Given the description of an element on the screen output the (x, y) to click on. 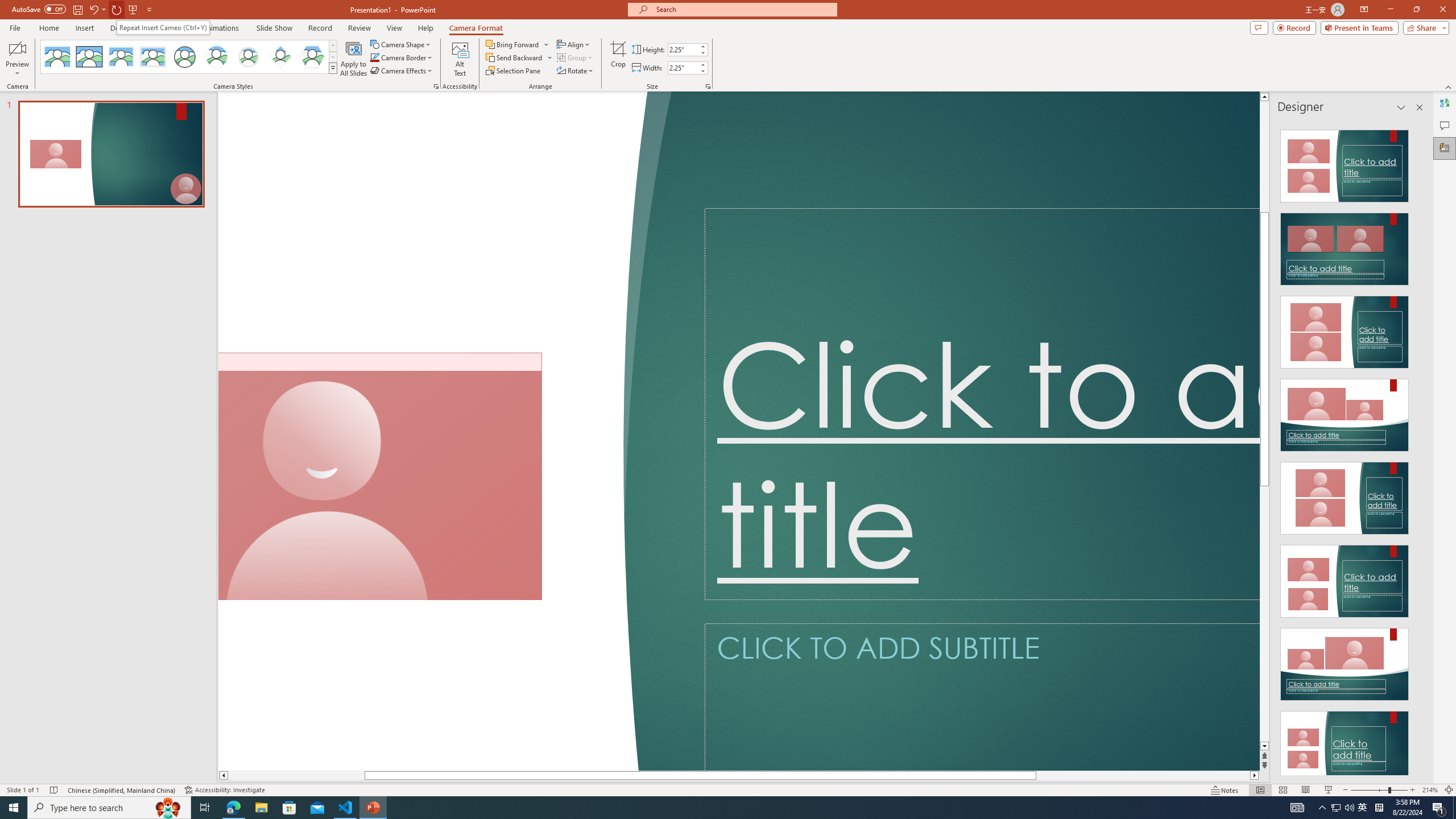
Crop (617, 58)
Transitions (167, 28)
Bring Forward (513, 44)
Group (575, 56)
Camera Border (401, 56)
Task Pane Options (1400, 107)
Insert (83, 28)
Preview (17, 58)
Close (1442, 9)
Restore Down (1416, 9)
Comments (1444, 125)
Share (1423, 27)
Decorative Locked (436, 430)
Enable Camera Preview (17, 48)
